Given the description of an element on the screen output the (x, y) to click on. 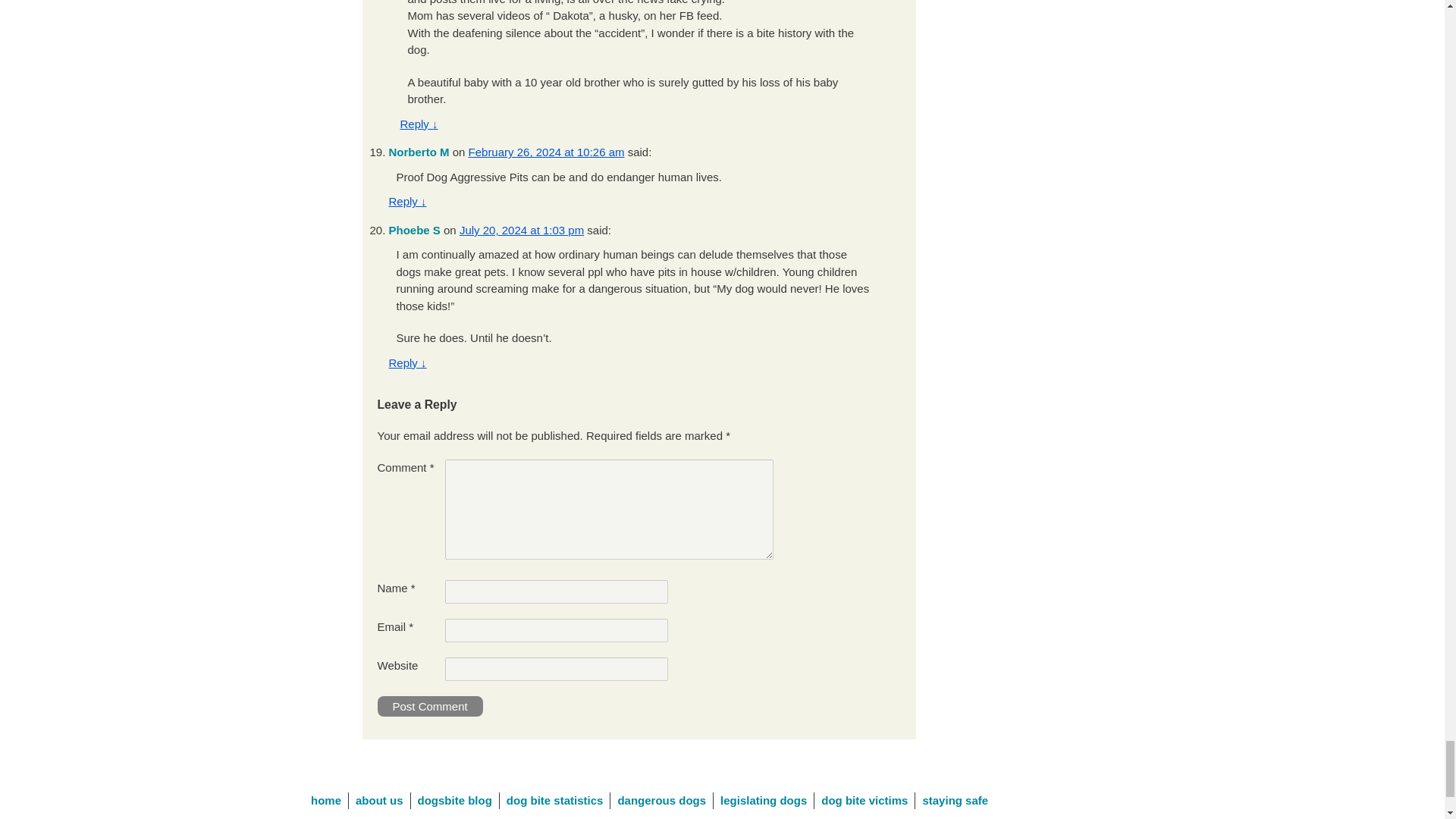
Post Comment (430, 706)
